Given the description of an element on the screen output the (x, y) to click on. 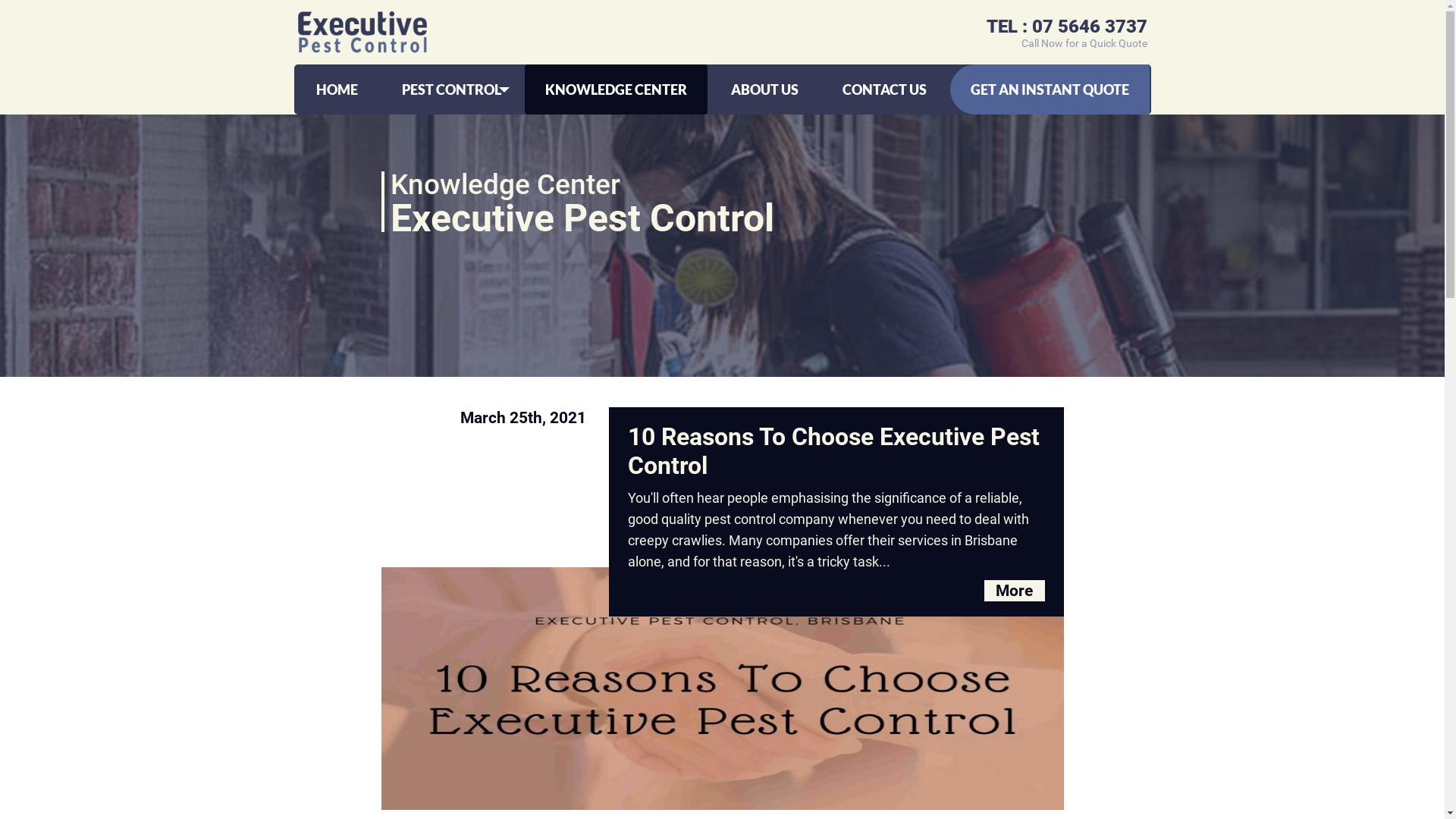
10 Reasons To Choose Executive Pest Control Element type: text (835, 451)
CONTACT US Element type: text (884, 89)
GET AN INSTANT QUOTE Element type: text (1049, 89)
07 5646 3737 Element type: text (1088, 26)
HOME Element type: text (336, 89)
More Element type: text (1014, 590)
PEST CONTROL Element type: text (450, 89)
ABOUT US Element type: text (763, 89)
GET AN INSTANT QUOTE Element type: text (1048, 89)
KNOWLEDGE CENTER Element type: text (615, 89)
Executive Pest Control Brisbane Element type: hover (378, 32)
